Given the description of an element on the screen output the (x, y) to click on. 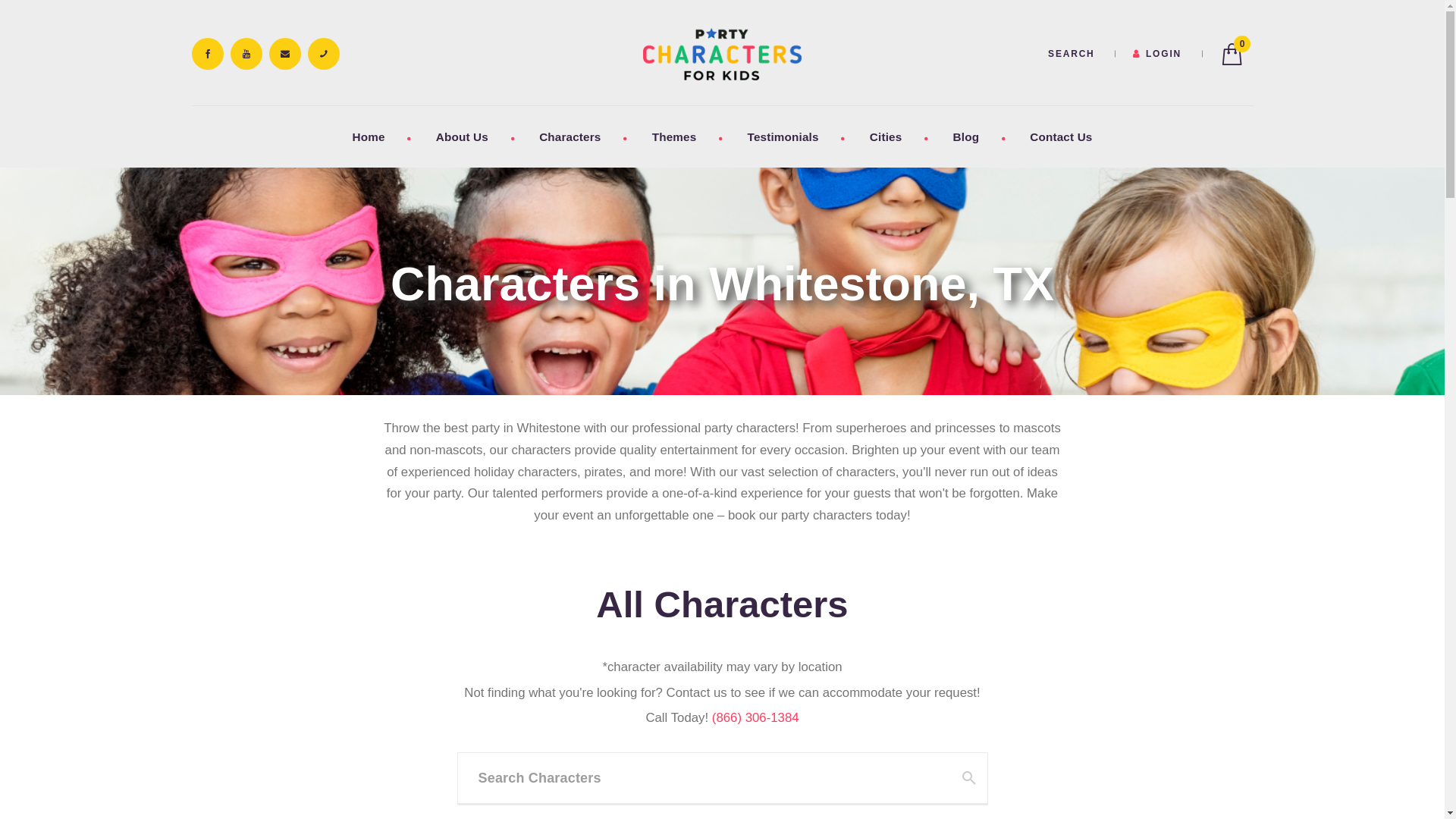
About Us (461, 136)
Contact Us (1061, 136)
Blog (965, 136)
Characters (570, 136)
Cities (885, 136)
Home (368, 136)
Themes (674, 136)
Testimonials (783, 136)
LOGIN (1156, 54)
